Given the description of an element on the screen output the (x, y) to click on. 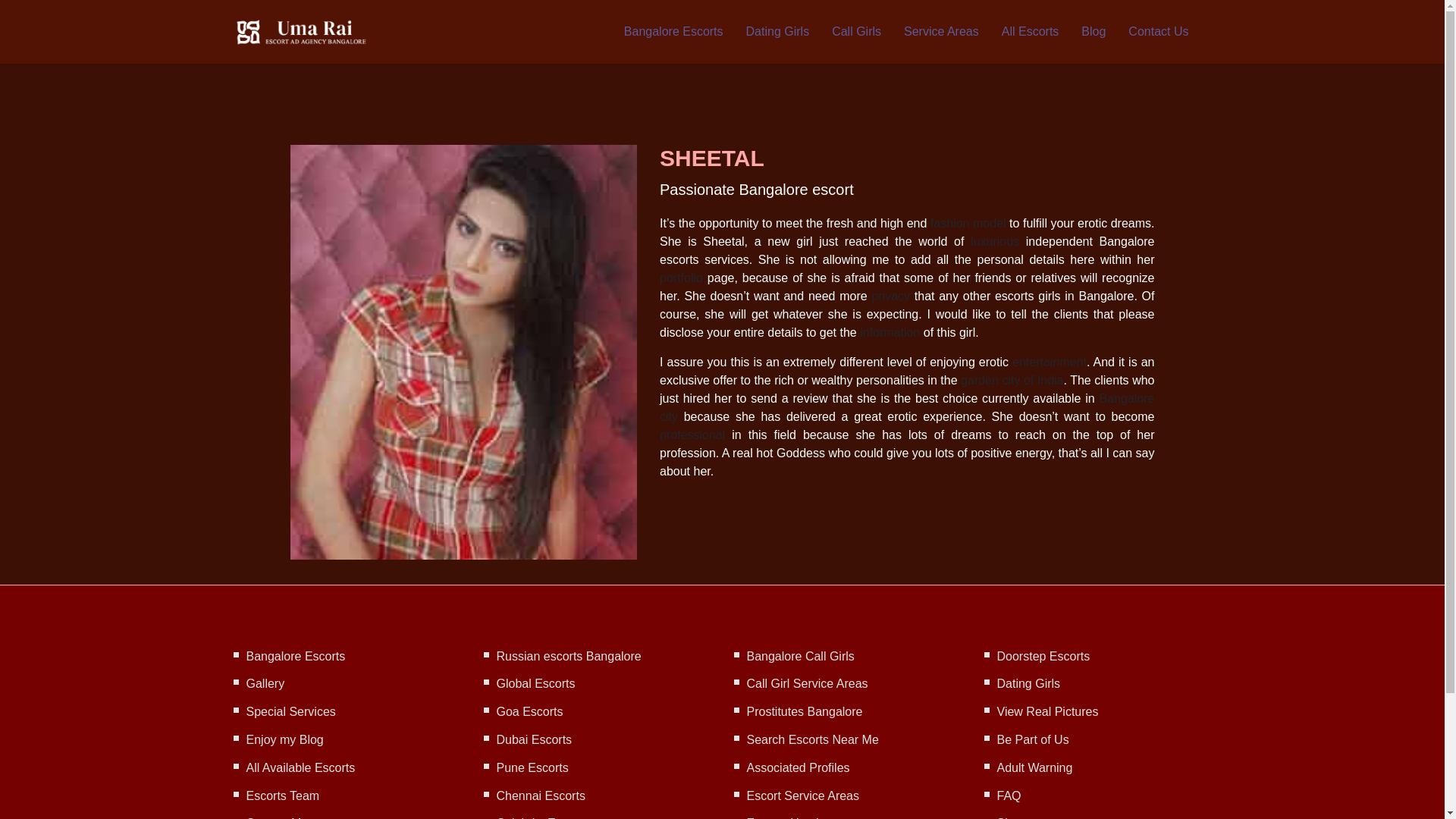
Chennai Escorts (540, 795)
All Escorts (1030, 31)
Goa Escorts (529, 711)
Global Escorts (535, 683)
Service Areas (941, 31)
Escort Service Areas (802, 795)
Bangalore Escorts (295, 656)
Gallery (264, 683)
Call Girls (855, 31)
Contact Us (1158, 31)
